Given the description of an element on the screen output the (x, y) to click on. 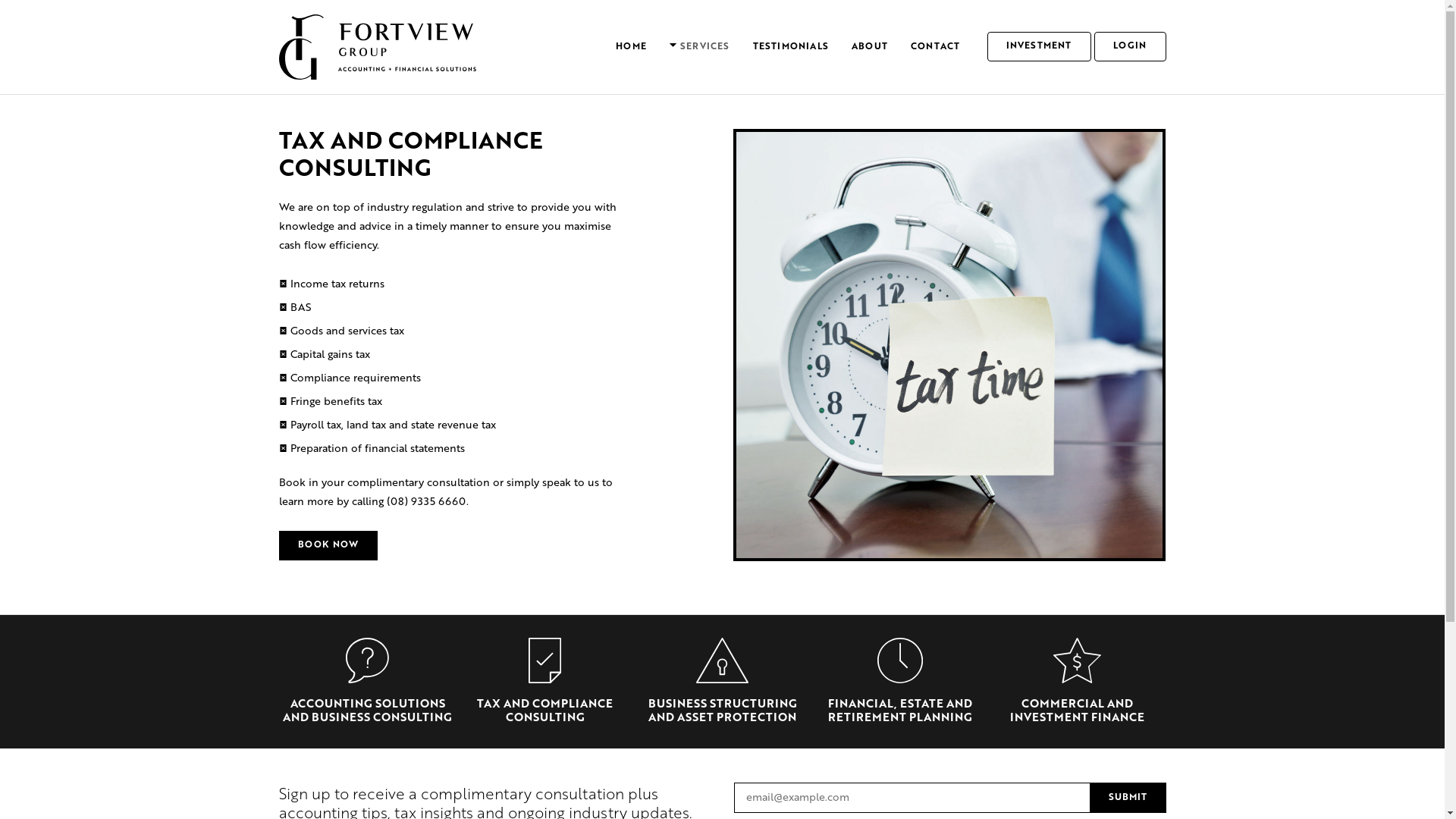
INVESTMENT Element type: text (1039, 46)
Book in Element type: text (298, 482)
ACCOUNTING SOLUTIONS AND BUSINESS CONSULTING Element type: text (366, 711)
TAX AND COMPLIANCE
CONSULTING Element type: text (544, 711)
CONTACT Element type: text (935, 47)
SERVICES Element type: text (699, 47)
LOGIN Element type: text (1129, 46)
TESTIMONIALS Element type: text (790, 47)
(08) 9335 6660 Element type: text (426, 501)
Submit Element type: text (1127, 797)
COMMERCIAL AND INVESTMENT FINANCE Element type: text (1077, 711)
FINANCIAL, ESTATE AND RETIREMENT PLANNING Element type: text (900, 711)
BUSINESS STRUCTURING
AND ASSET PROTECTION Element type: text (721, 711)
ABOUT Element type: text (869, 47)
BOOK NOW Element type: text (328, 545)
HOME Element type: text (631, 47)
